Given the description of an element on the screen output the (x, y) to click on. 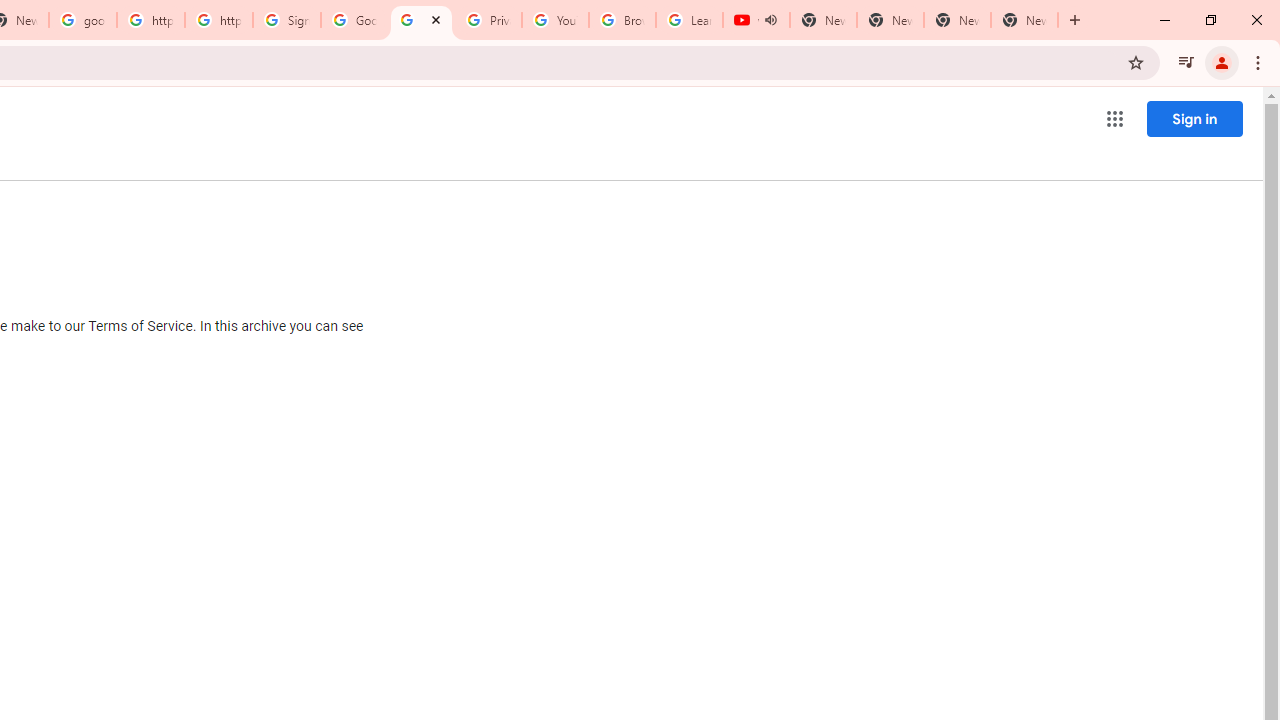
New Tab (1024, 20)
https://scholar.google.com/ (219, 20)
YouTube (555, 20)
